Given the description of an element on the screen output the (x, y) to click on. 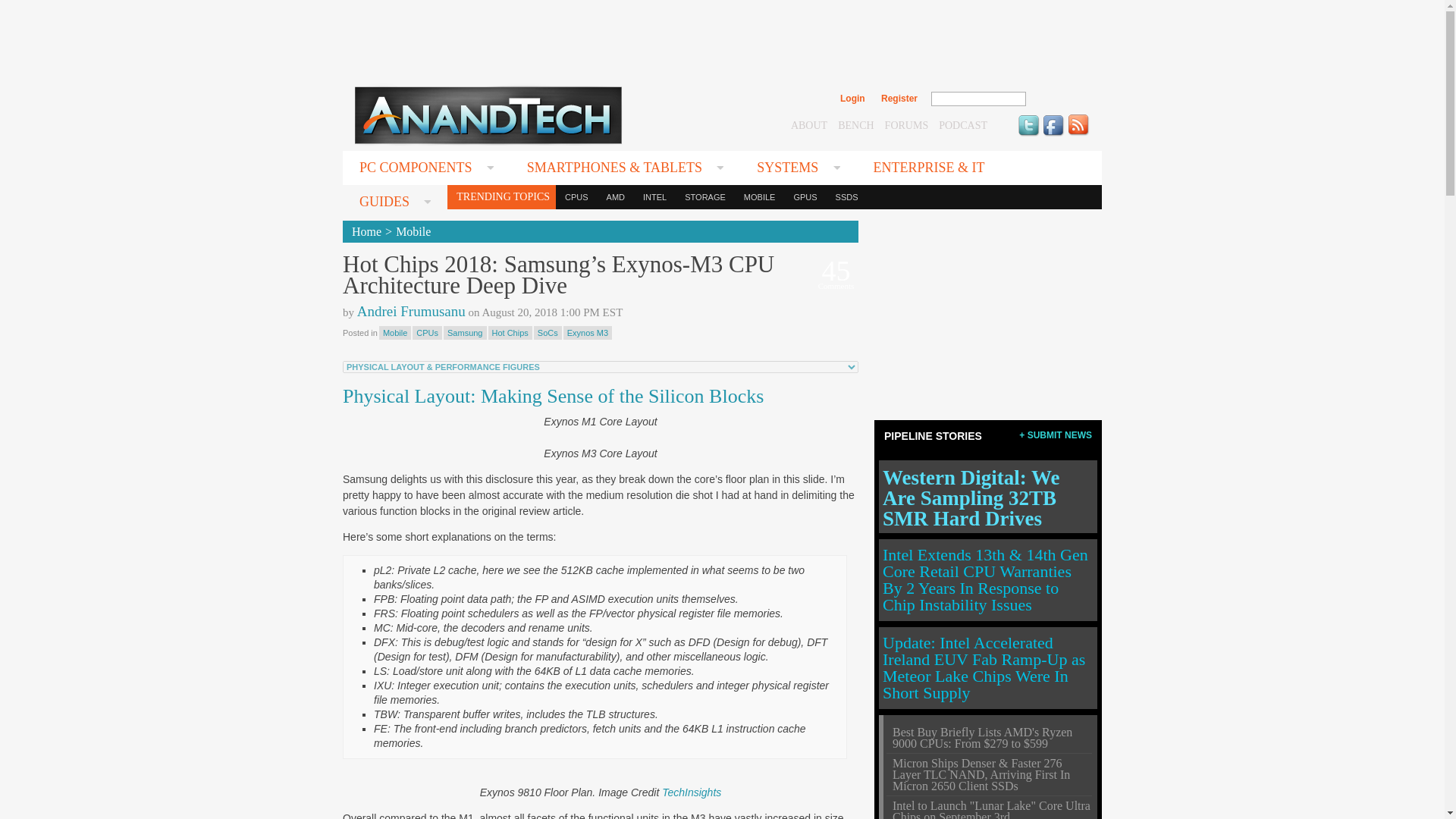
BENCH (855, 125)
ABOUT (808, 125)
FORUMS (906, 125)
search (1059, 98)
search (1059, 98)
PODCAST (963, 125)
Register (898, 98)
Login (852, 98)
search (1059, 98)
